Given the description of an element on the screen output the (x, y) to click on. 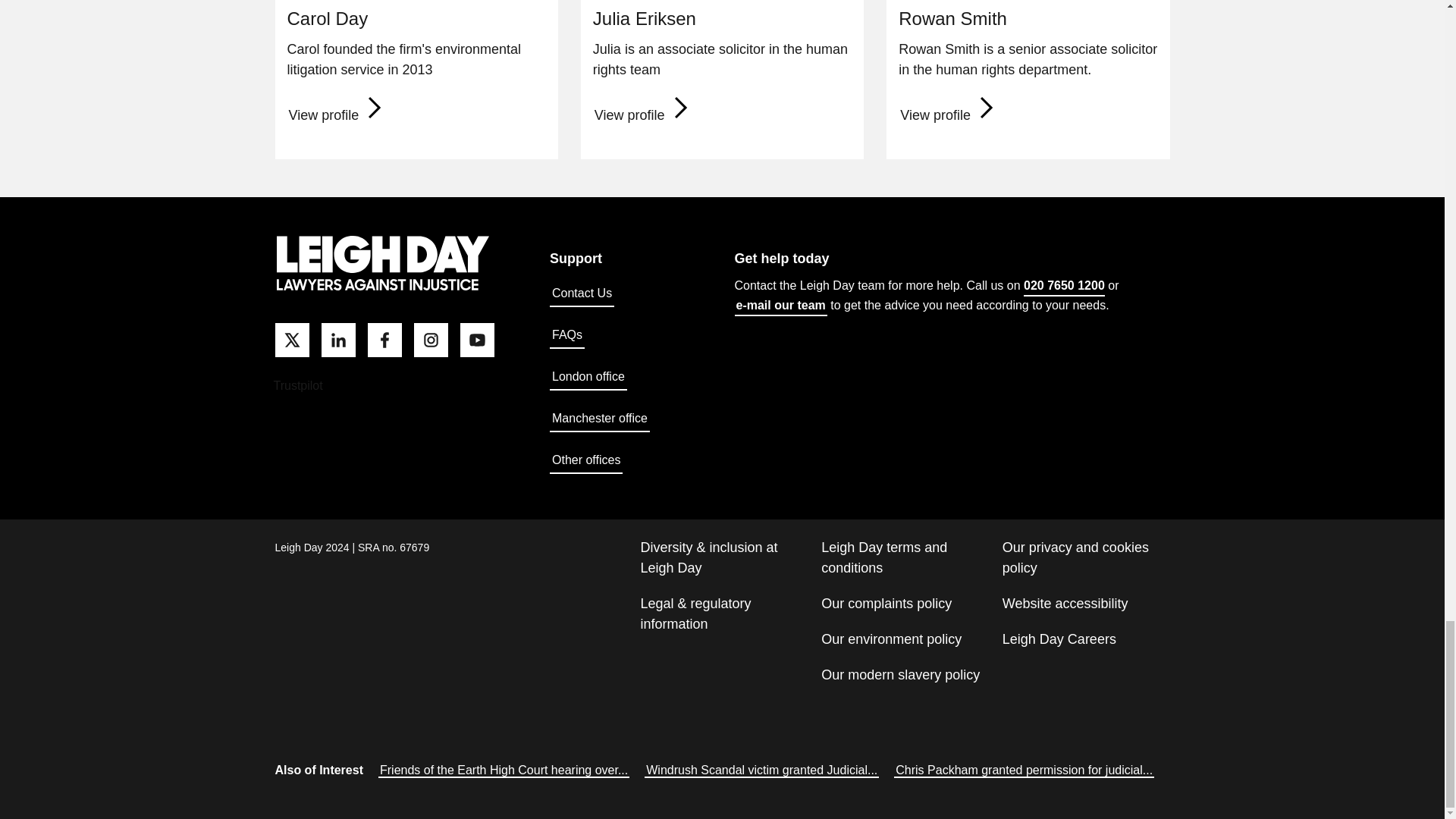
View Julia Eriksen (643, 114)
View Rowan Smith (949, 114)
View Carol Day (337, 114)
